Given the description of an element on the screen output the (x, y) to click on. 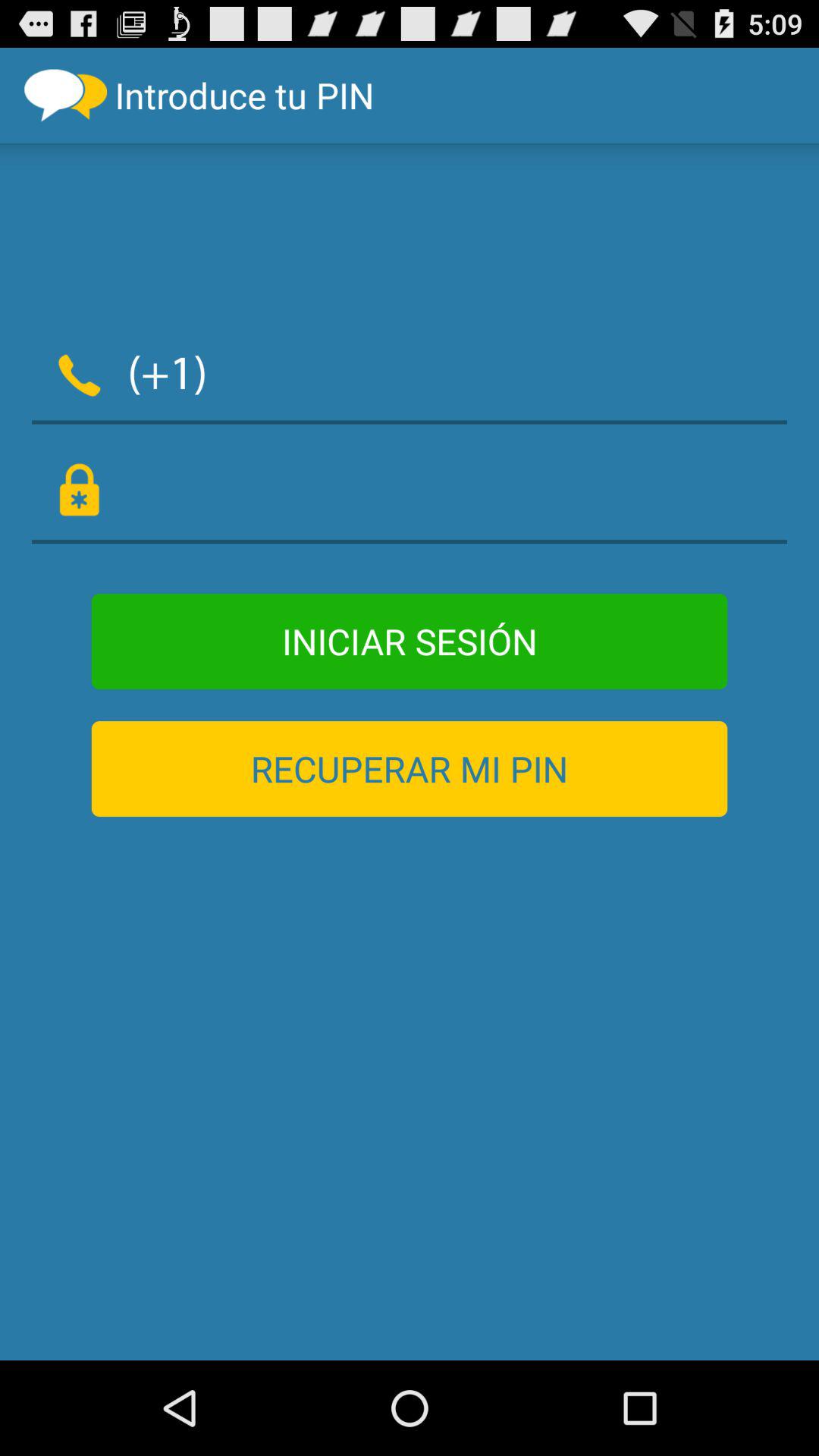
flip until recuperar mi pin icon (409, 768)
